Given the description of an element on the screen output the (x, y) to click on. 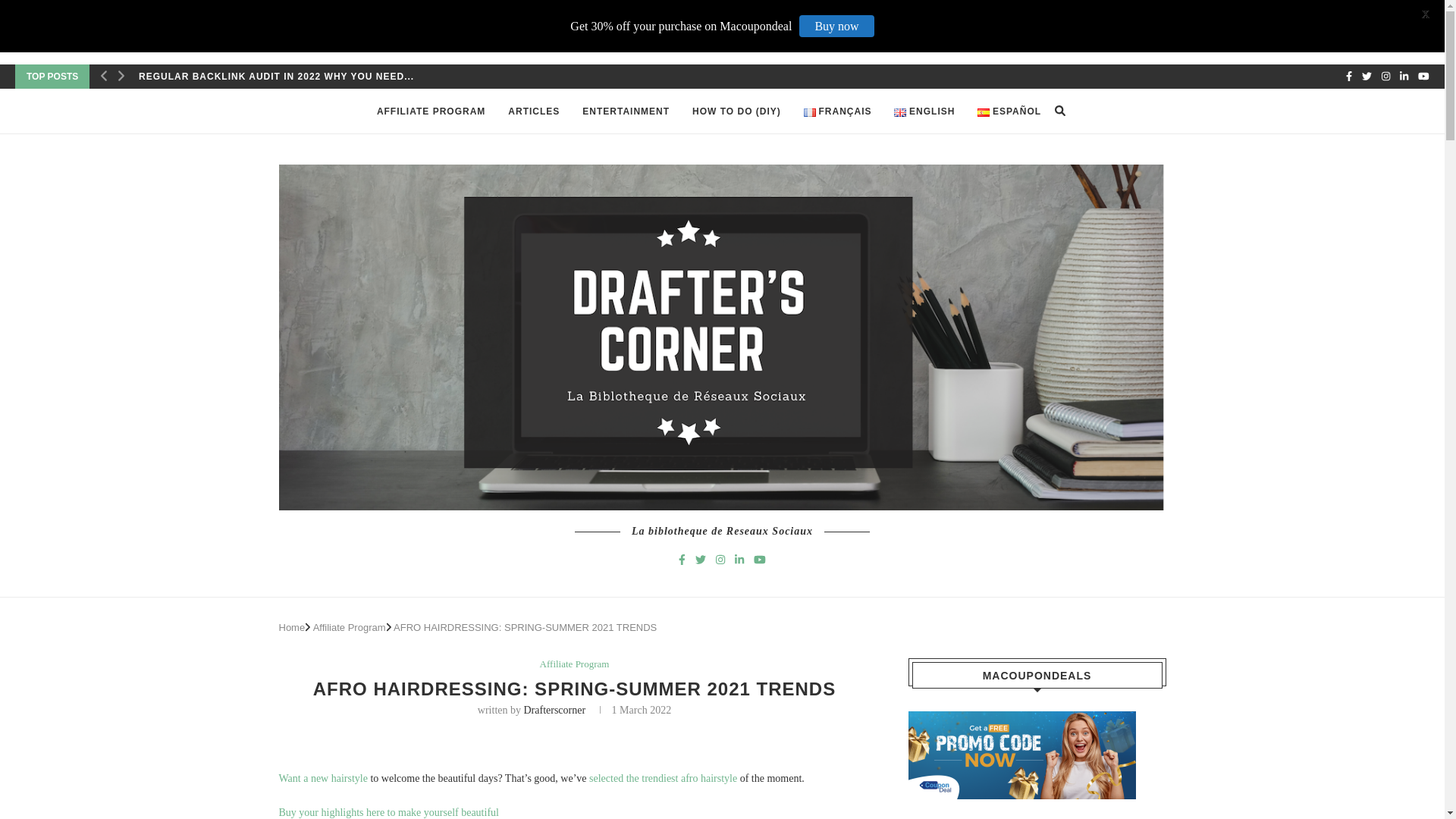
REGULAR BACKLINK AUDIT IN 2022 WHY YOU NEED... (275, 76)
AFFILIATE PROGRAM (430, 111)
